Given the description of an element on the screen output the (x, y) to click on. 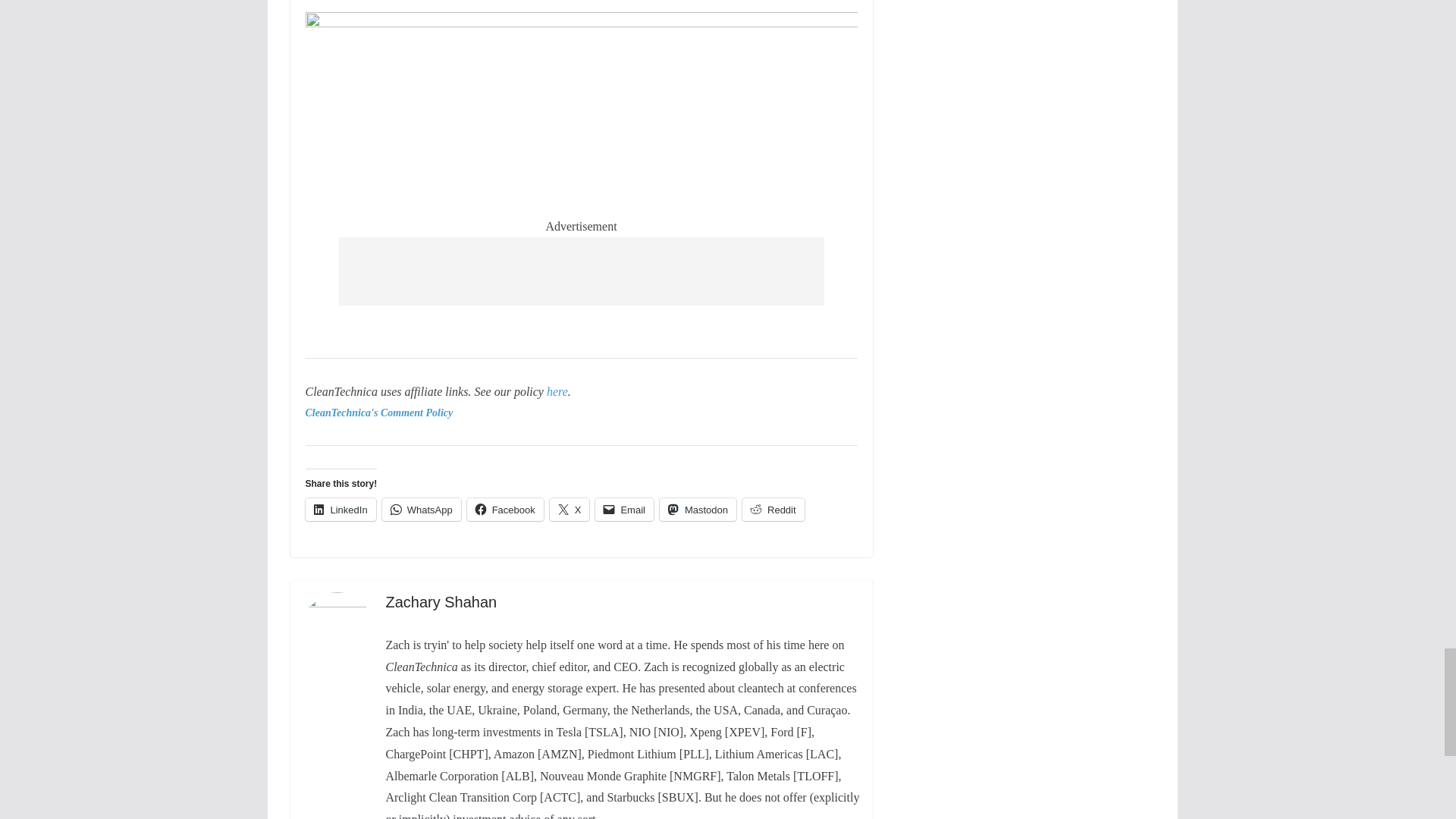
YouTube video player (516, 2)
Click to share on Reddit (773, 508)
Click to share on LinkedIn (339, 508)
Click to email a link to a friend (624, 508)
Click to share on WhatsApp (421, 508)
Click to share on X (569, 508)
Click to share on Mastodon (697, 508)
Click to share on Facebook (505, 508)
